Given the description of an element on the screen output the (x, y) to click on. 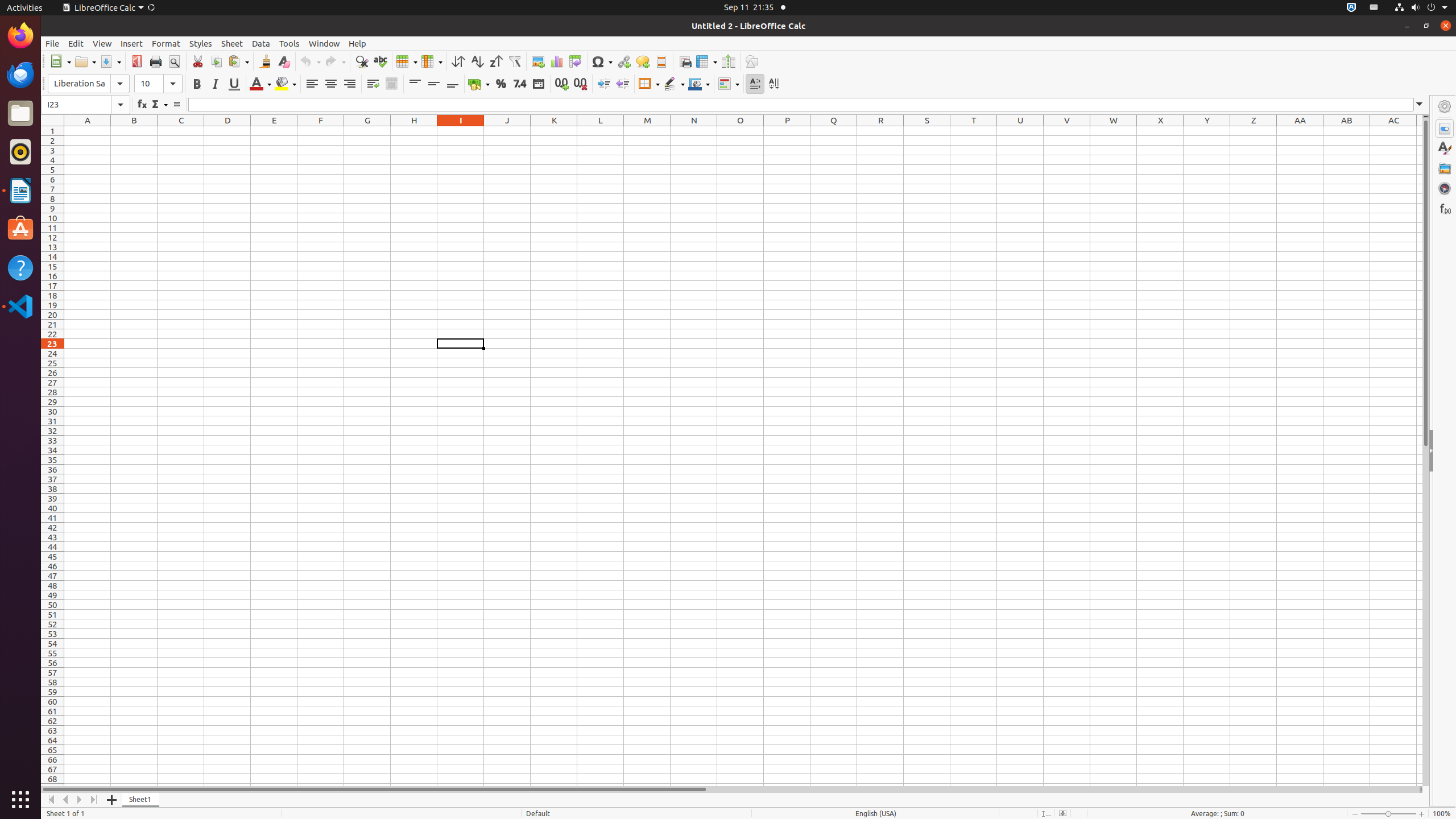
Currency Element type: push-button (478, 83)
G1 Element type: table-cell (367, 130)
Move Right Element type: push-button (79, 799)
M1 Element type: table-cell (646, 130)
W1 Element type: table-cell (1113, 130)
